Given the description of an element on the screen output the (x, y) to click on. 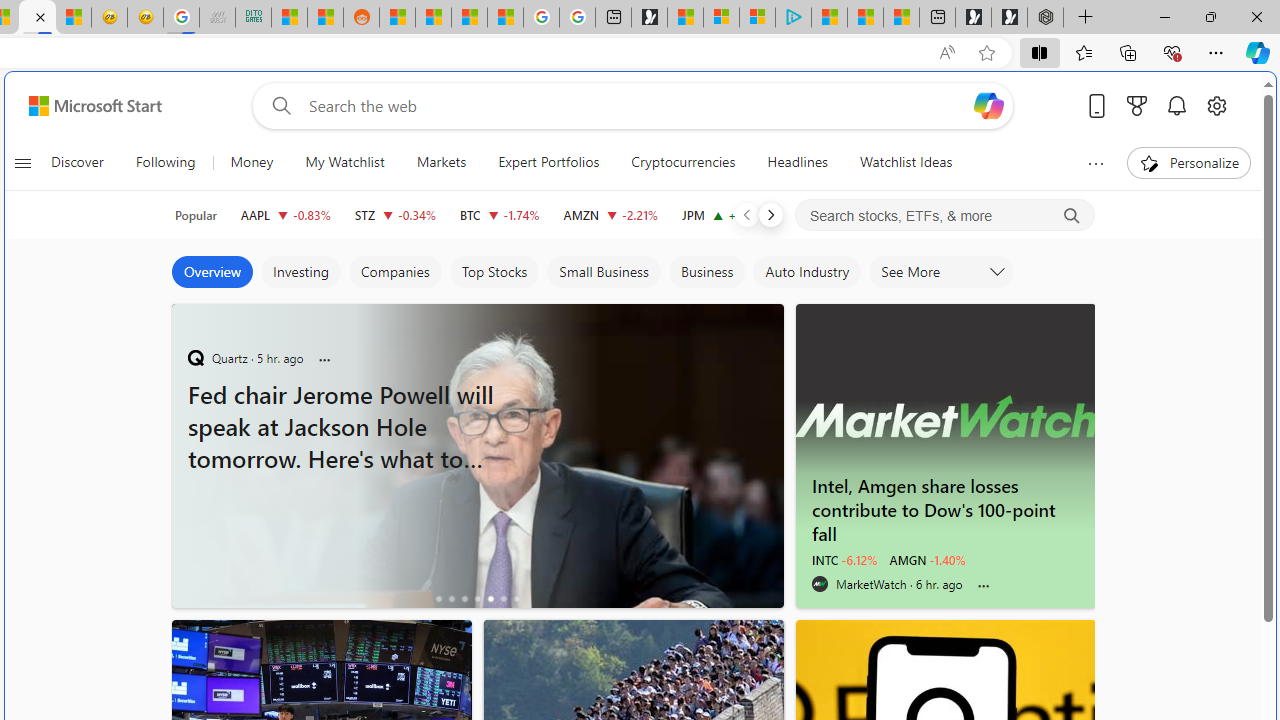
AMZN AMAZON.COM, INC. decrease 176.13 -3.98 -2.21% (610, 214)
Headlines (797, 162)
JPM JPMORGAN CHASE & CO. increase 216.71 +2.11 +0.98% (725, 214)
AdChoices (767, 313)
